Given the description of an element on the screen output the (x, y) to click on. 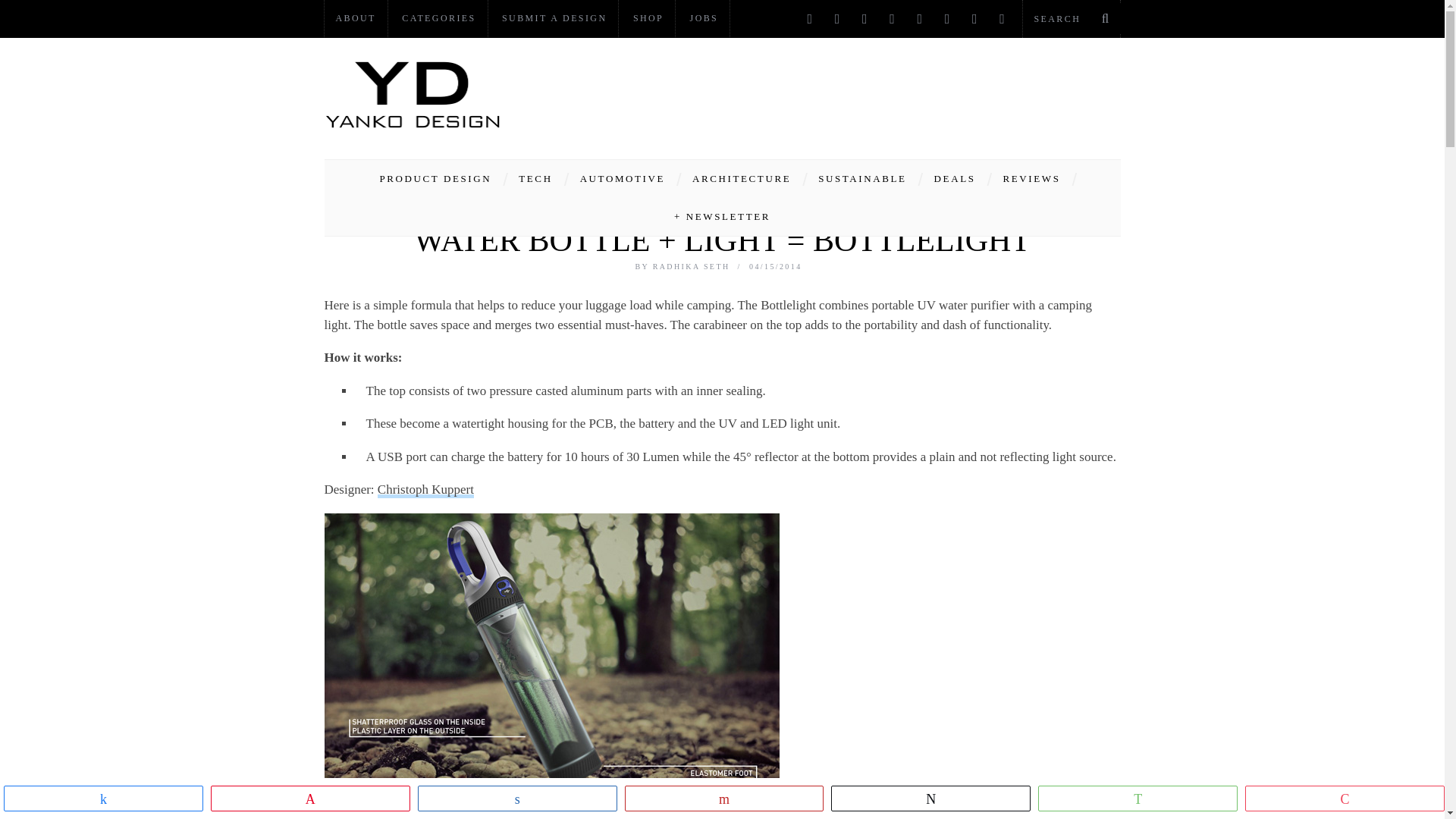
Advertisement (845, 94)
Search (1071, 18)
